Given the description of an element on the screen output the (x, y) to click on. 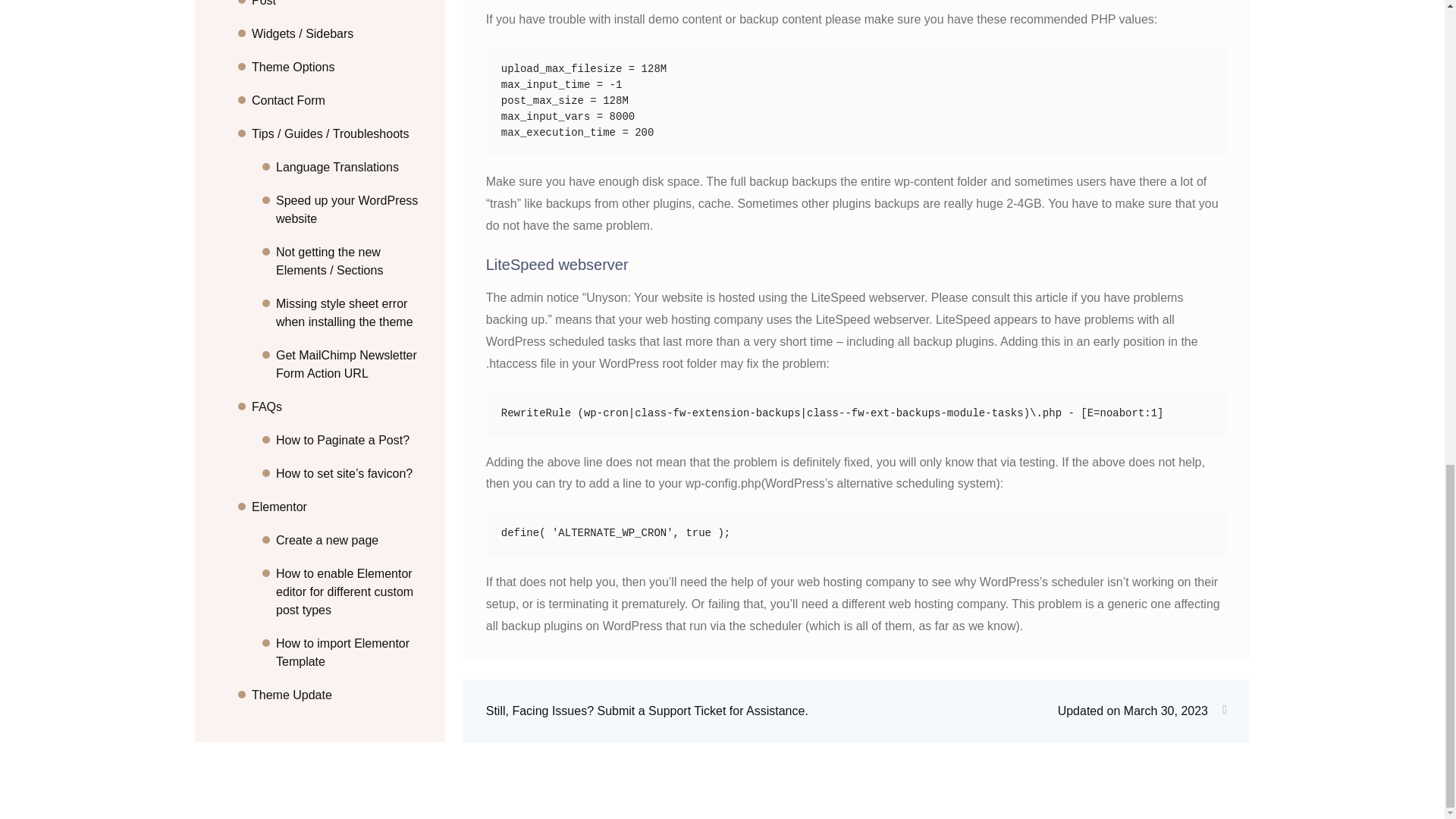
Theme Options (338, 42)
Create a new page (351, 515)
Speed up your WordPress website (351, 185)
Contact Form (338, 75)
How to Paginate a Post? (351, 415)
Get MailChimp Newsletter Form Action URL (351, 339)
Elementor (338, 482)
FAQs (338, 382)
Language Translations (351, 142)
Missing style sheet error when installing the theme (351, 288)
